Given the description of an element on the screen output the (x, y) to click on. 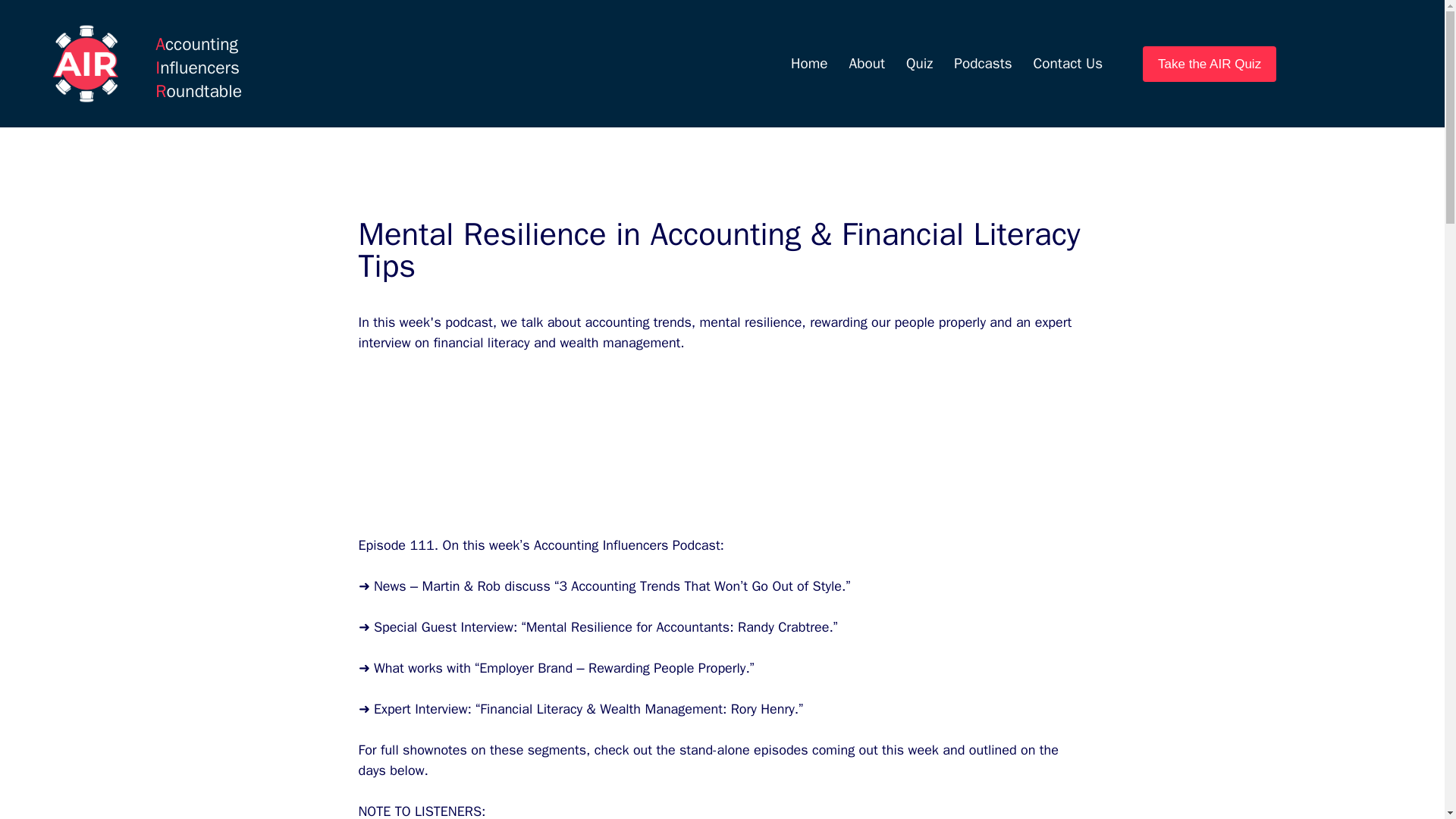
Take the AIR Quiz (1209, 63)
Contact Us (1068, 63)
About (866, 63)
Home (809, 63)
Podcasts (982, 63)
Quiz (919, 63)
